Given the description of an element on the screen output the (x, y) to click on. 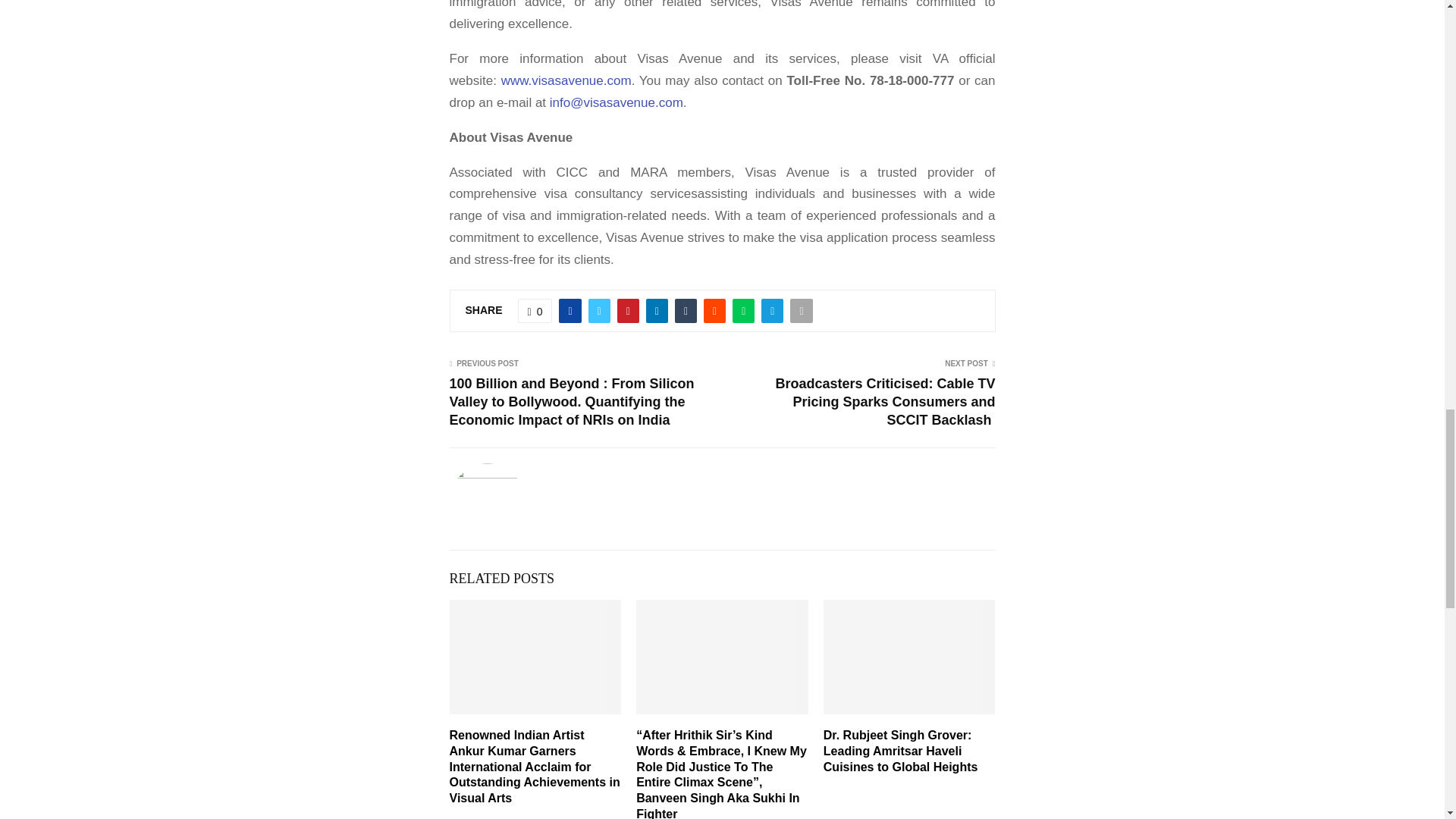
Like (535, 310)
